Given the description of an element on the screen output the (x, y) to click on. 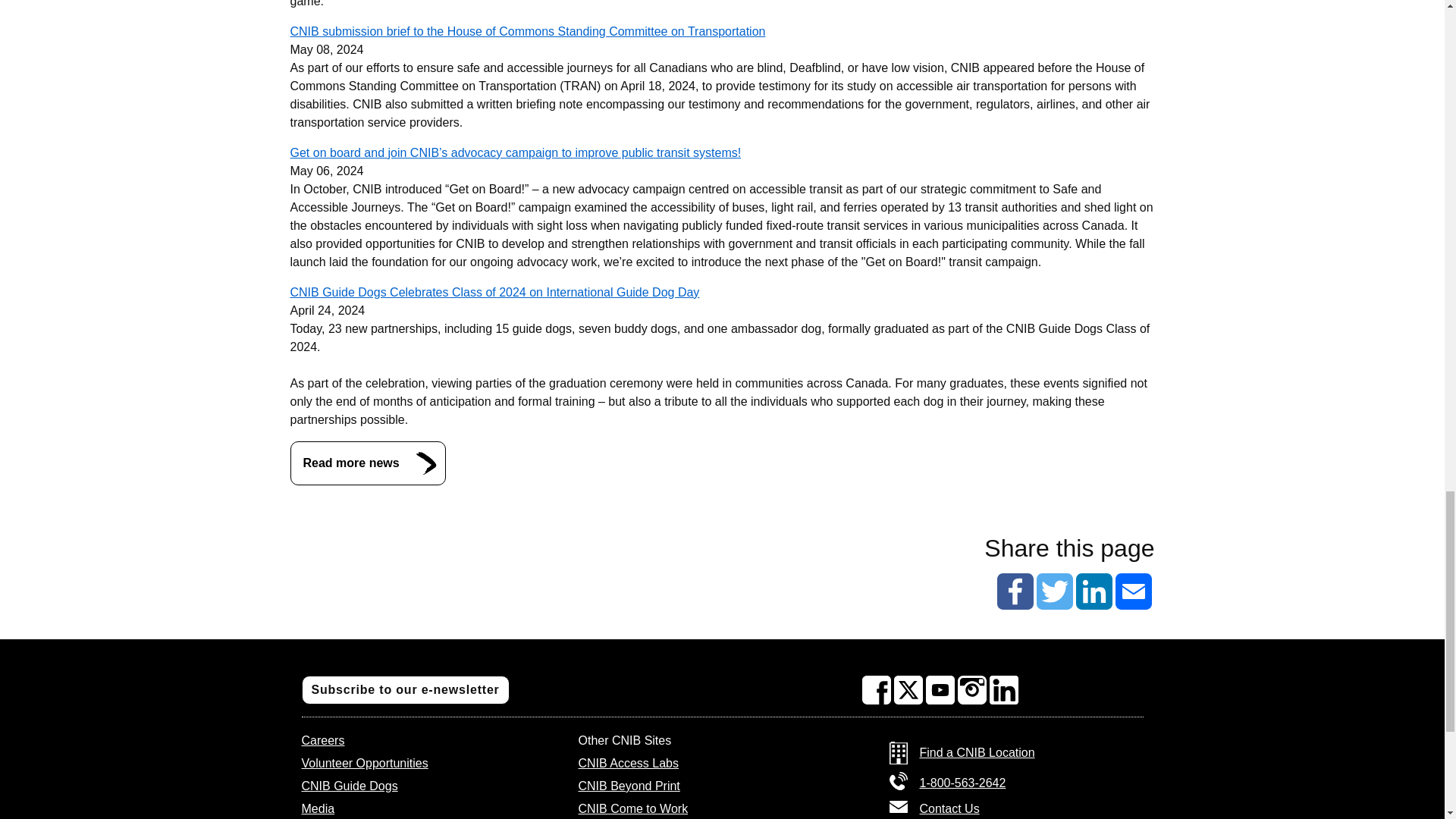
Share this page on LinkedIn (1093, 591)
Follow us on linkedin (1003, 689)
Share this page on Facebook (1013, 591)
Share this page on Twitter (1053, 591)
Follow us on facebook (876, 689)
Follow us on X (908, 689)
Send this page by email (1133, 591)
Follow us on instagram (972, 689)
Follow us on youtube (940, 689)
